Given the description of an element on the screen output the (x, y) to click on. 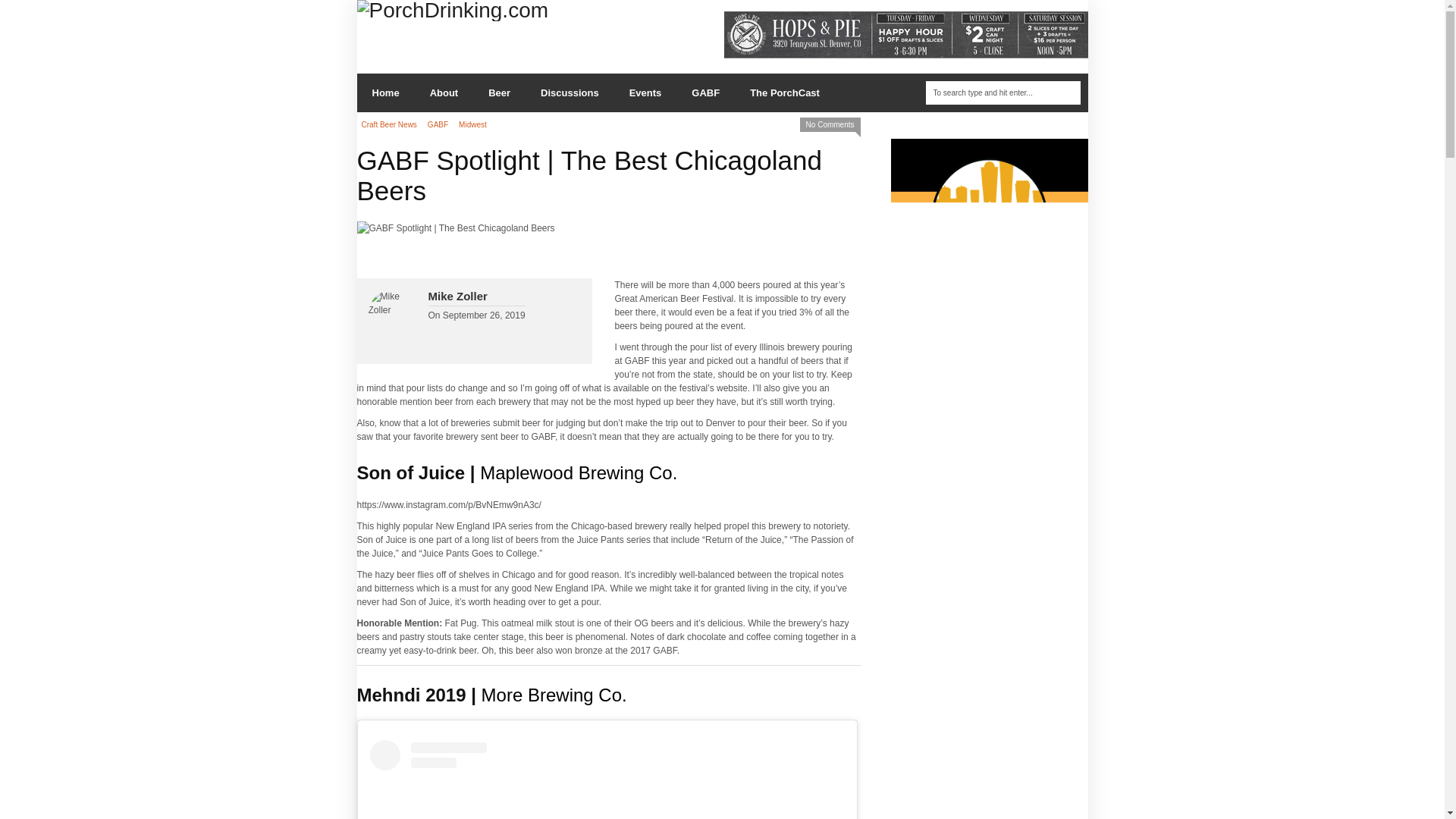
About (444, 92)
Beer (499, 92)
The PorchCast (784, 92)
Posts by Mike Zoller (457, 295)
To search type and hit enter... (1002, 92)
GABF (706, 92)
Events (645, 92)
Discussions (569, 92)
Home (384, 92)
